Given the description of an element on the screen output the (x, y) to click on. 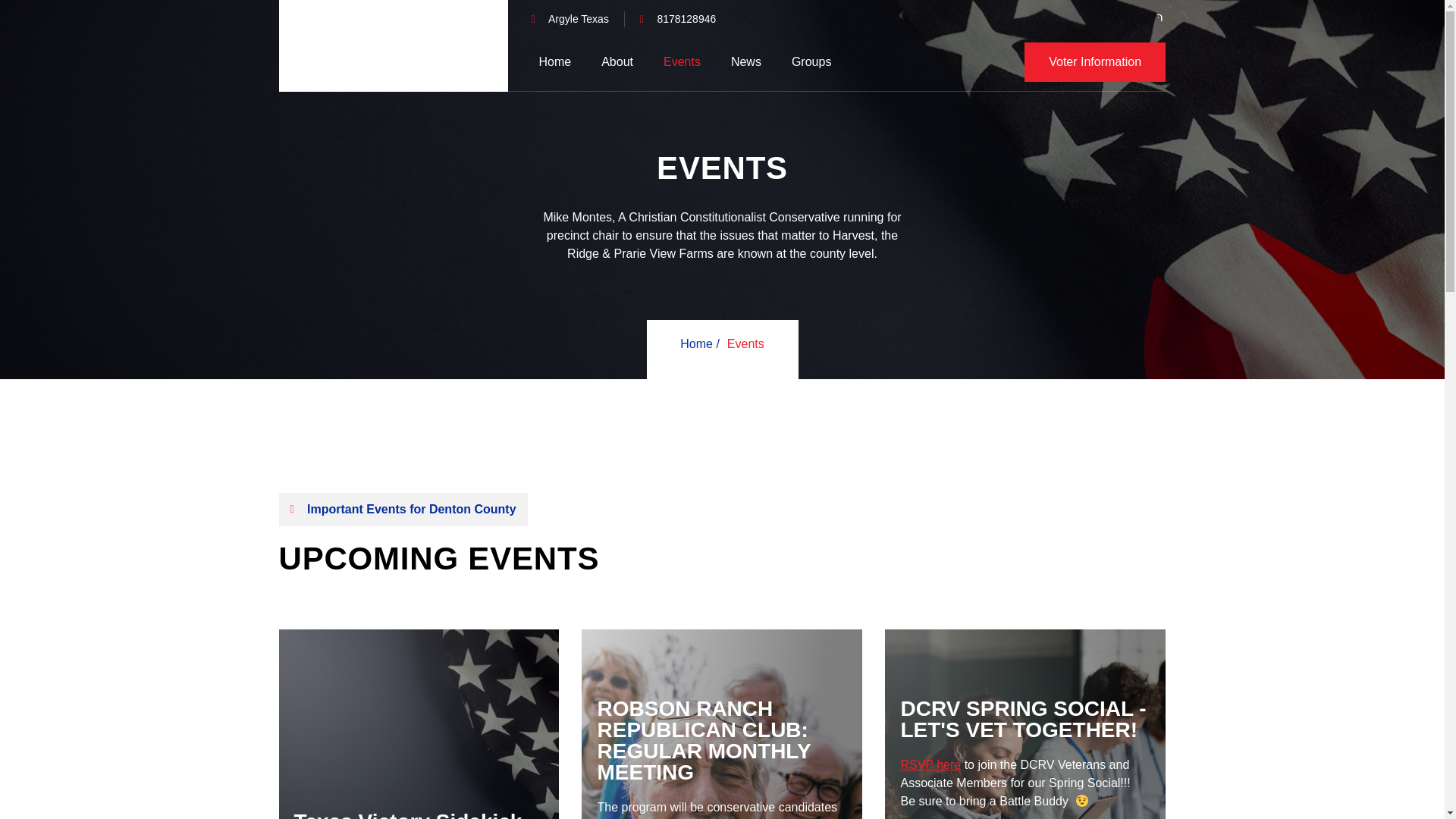
About (625, 61)
Home (562, 61)
News (753, 61)
Events (689, 61)
Voter Information (1095, 61)
Groups (818, 61)
RSVP here (929, 764)
